Given the description of an element on the screen output the (x, y) to click on. 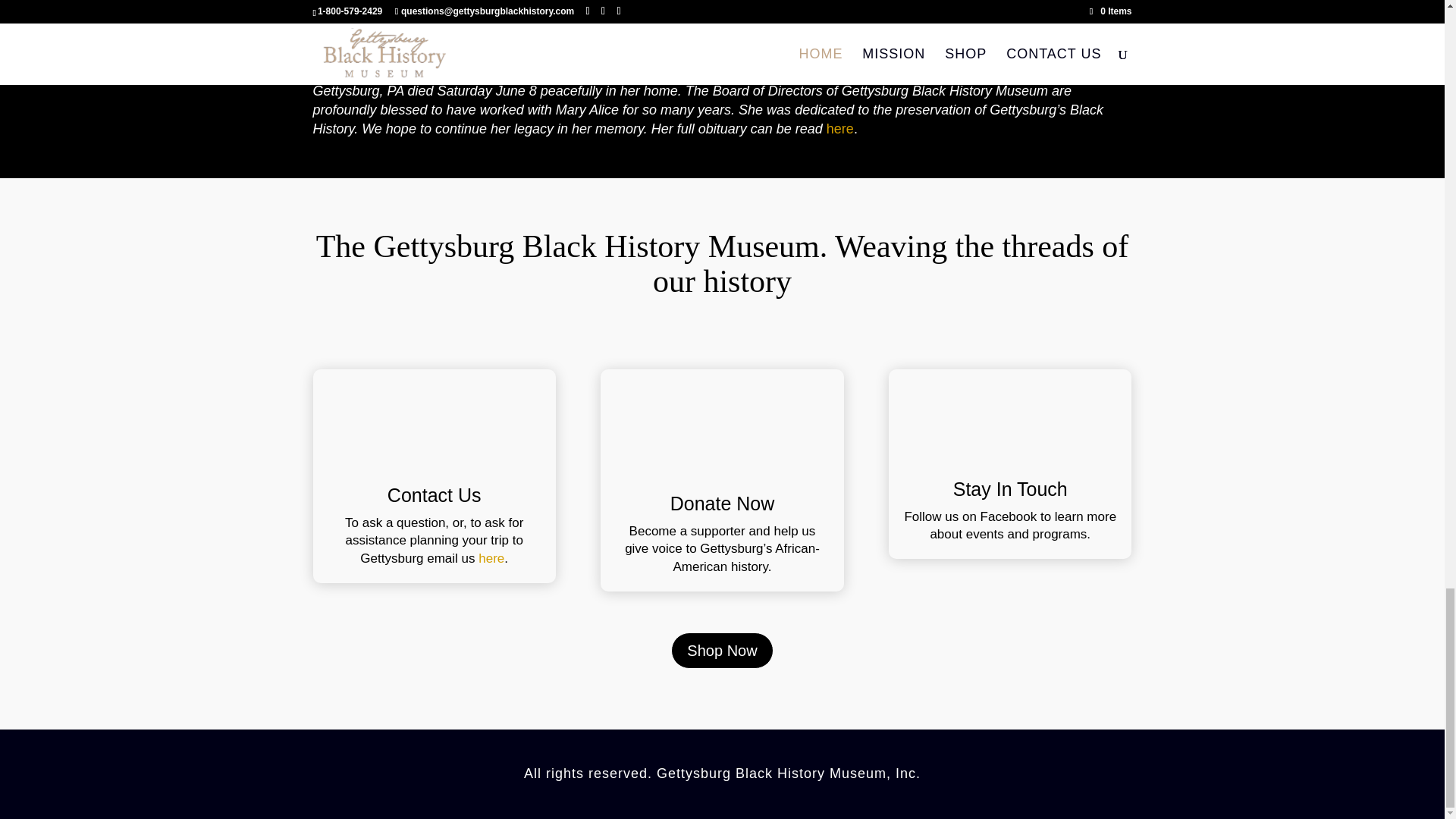
Shop Now (722, 650)
here (840, 128)
here (491, 558)
Mary Alice Nutter Obituary (840, 128)
